Given the description of an element on the screen output the (x, y) to click on. 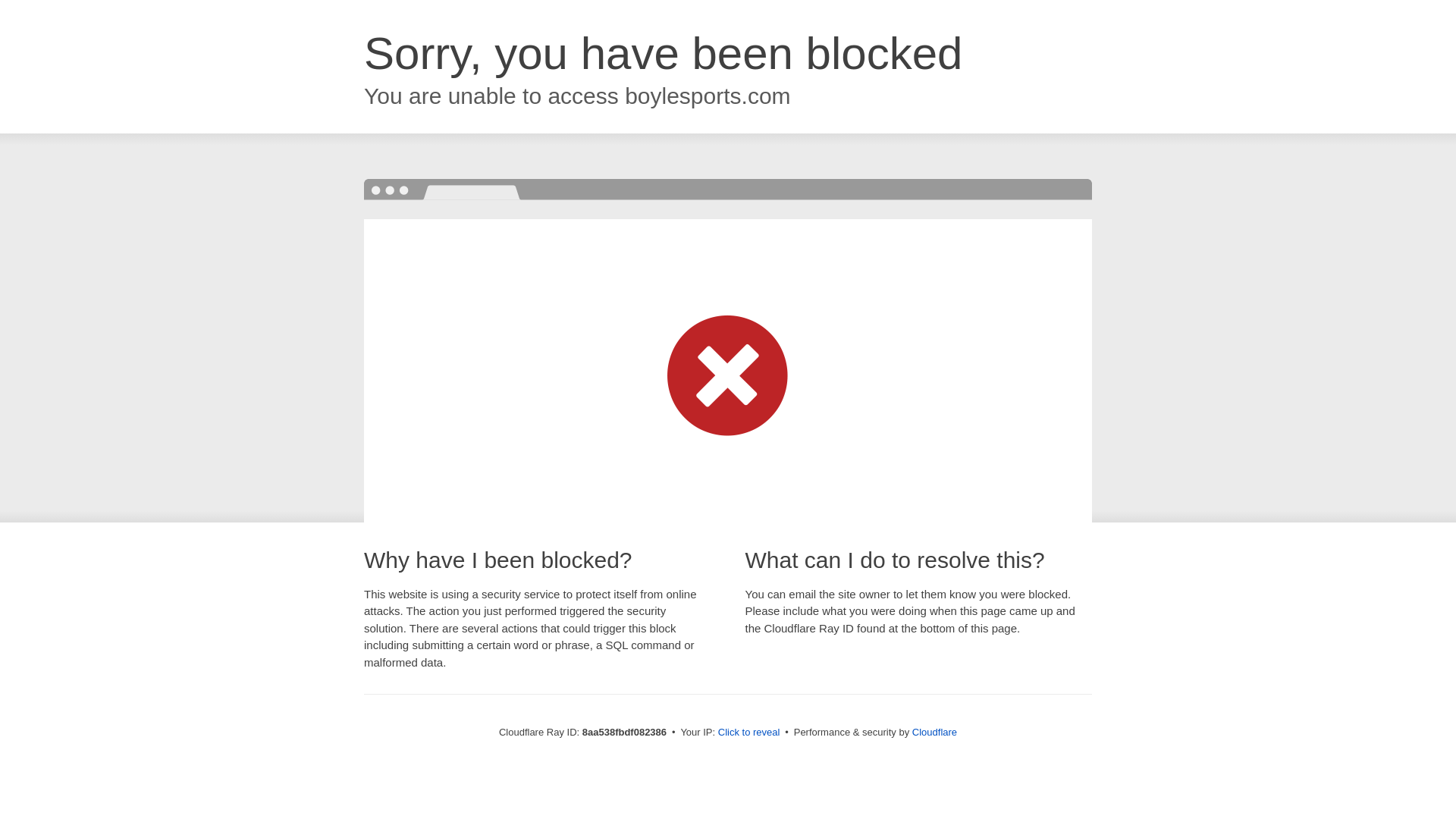
Cloudflare (934, 731)
Click to reveal (748, 732)
